Given the description of an element on the screen output the (x, y) to click on. 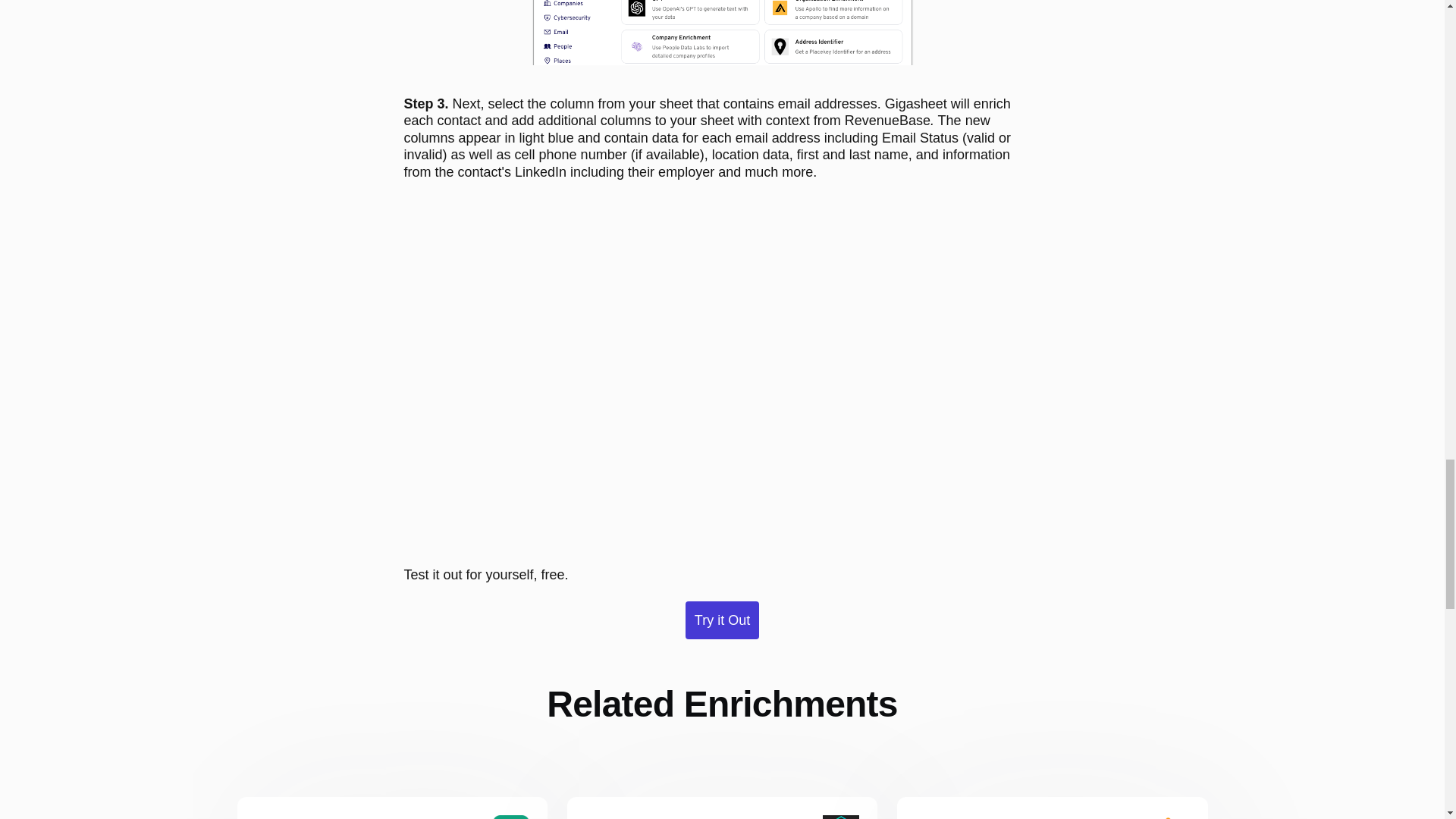
Try it Out (721, 620)
